Given the description of an element on the screen output the (x, y) to click on. 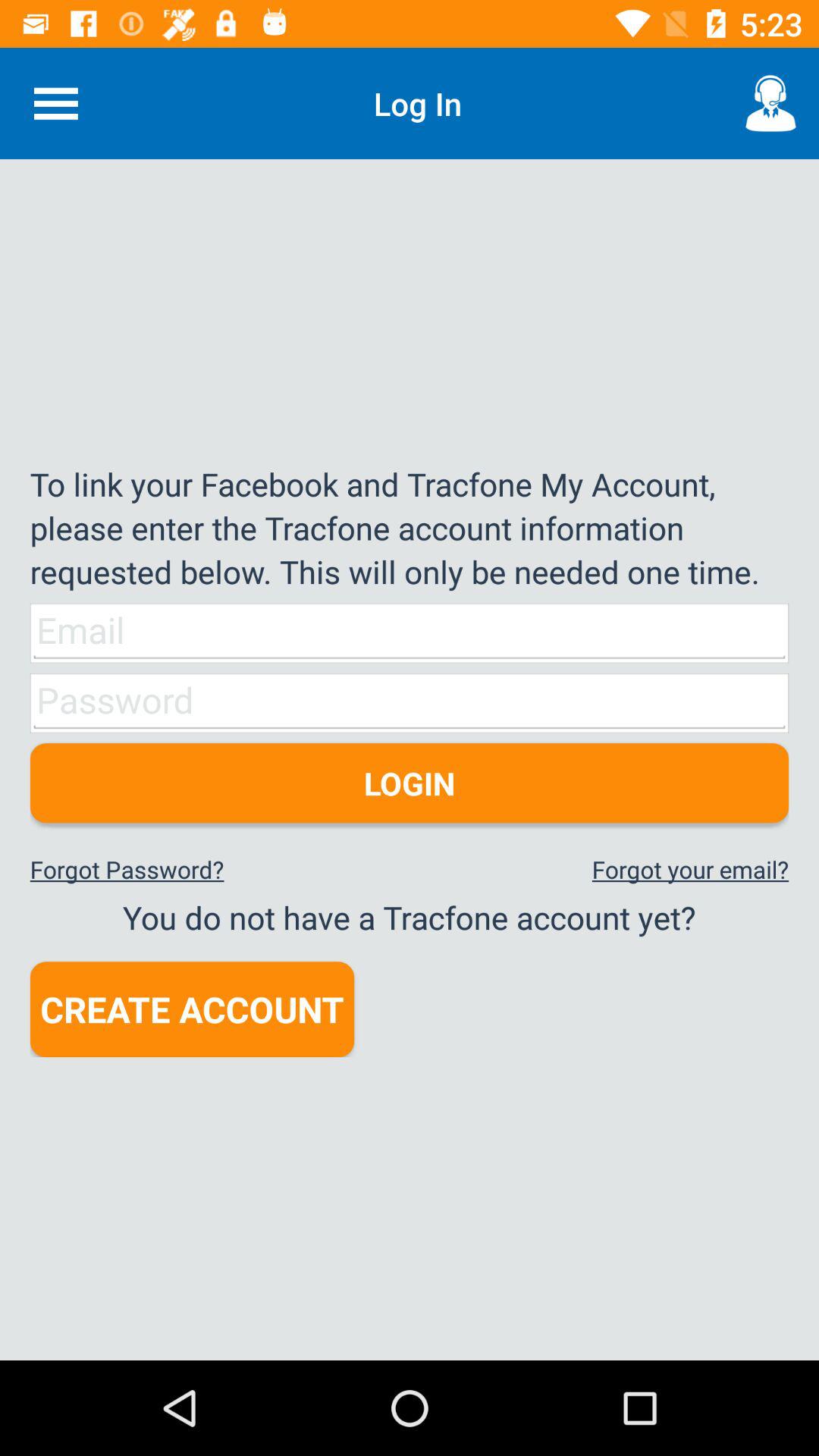
press the item to the left of the log in (55, 103)
